Given the description of an element on the screen output the (x, y) to click on. 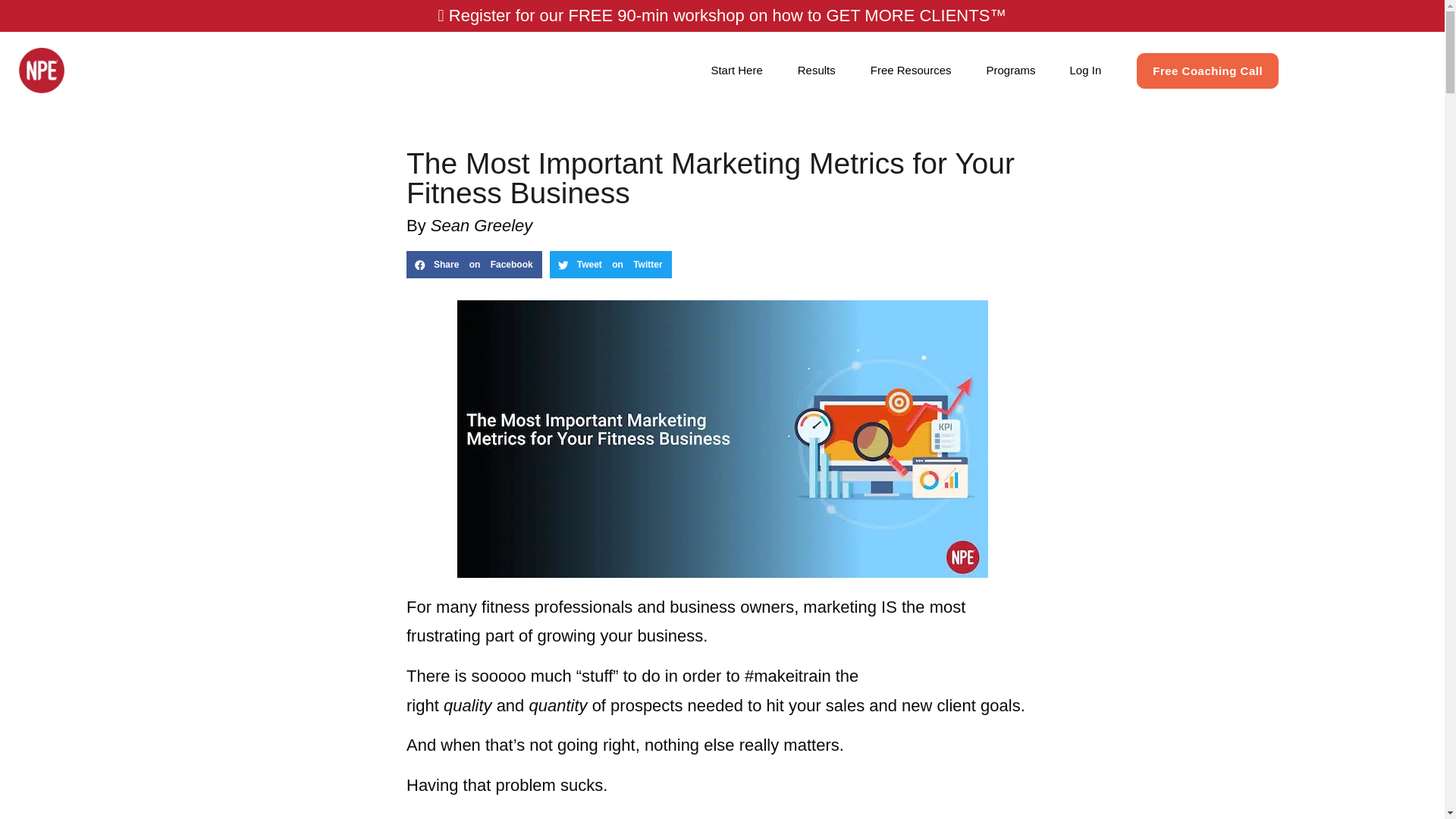
Start Here (736, 69)
Programs (1010, 69)
Free Resources (911, 69)
Results (816, 69)
Log In (1085, 69)
Free Coaching Call (1207, 70)
